Given the description of an element on the screen output the (x, y) to click on. 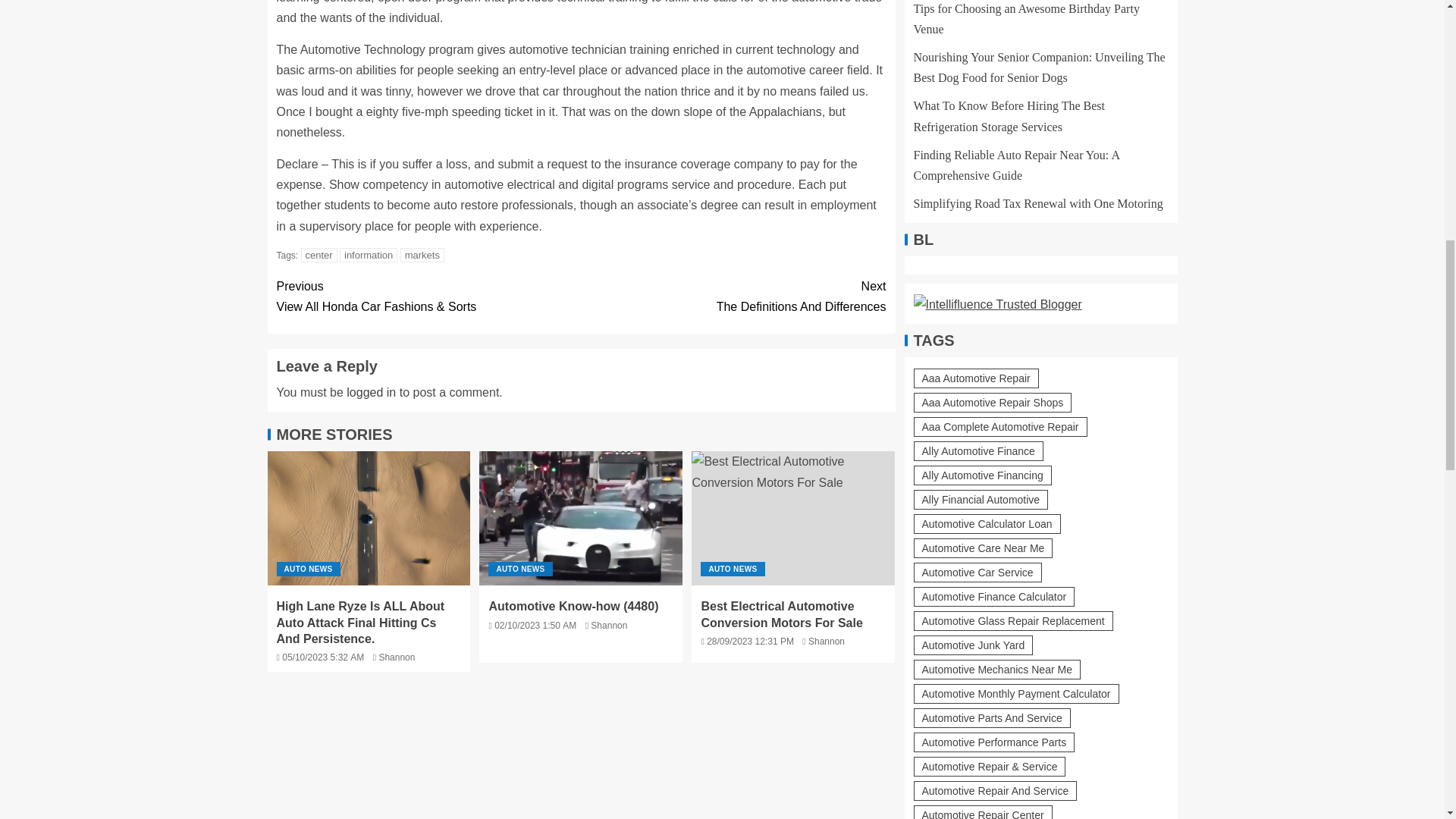
center (319, 255)
AUTO NEWS (732, 568)
AUTO NEWS (519, 568)
information (368, 255)
Best Electrical Automotive Conversion Motors For Sale (793, 518)
logged in (371, 391)
markets (422, 255)
Shannon (609, 624)
